Given the description of an element on the screen output the (x, y) to click on. 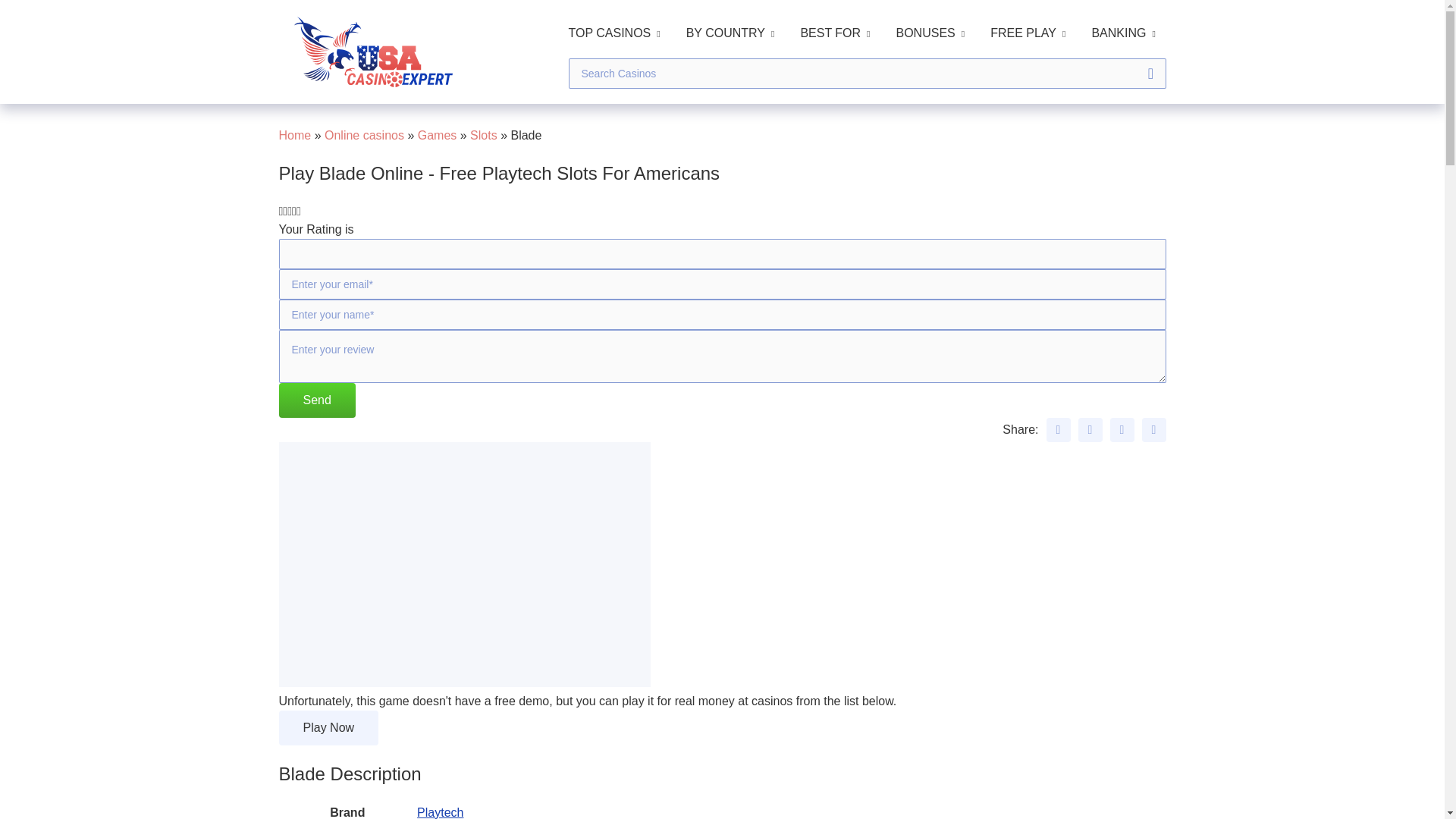
Play Now (328, 727)
Share on Facebook (1058, 429)
BY COUNTRY (729, 32)
BEST FOR (834, 32)
Share on Tumblr (1153, 429)
BANKING (1122, 32)
Share on Twitter (1090, 429)
Share on Pinterest (1121, 429)
TOP CASINOS (615, 32)
BONUSES (930, 32)
FREE PLAY (1027, 32)
